Given the description of an element on the screen output the (x, y) to click on. 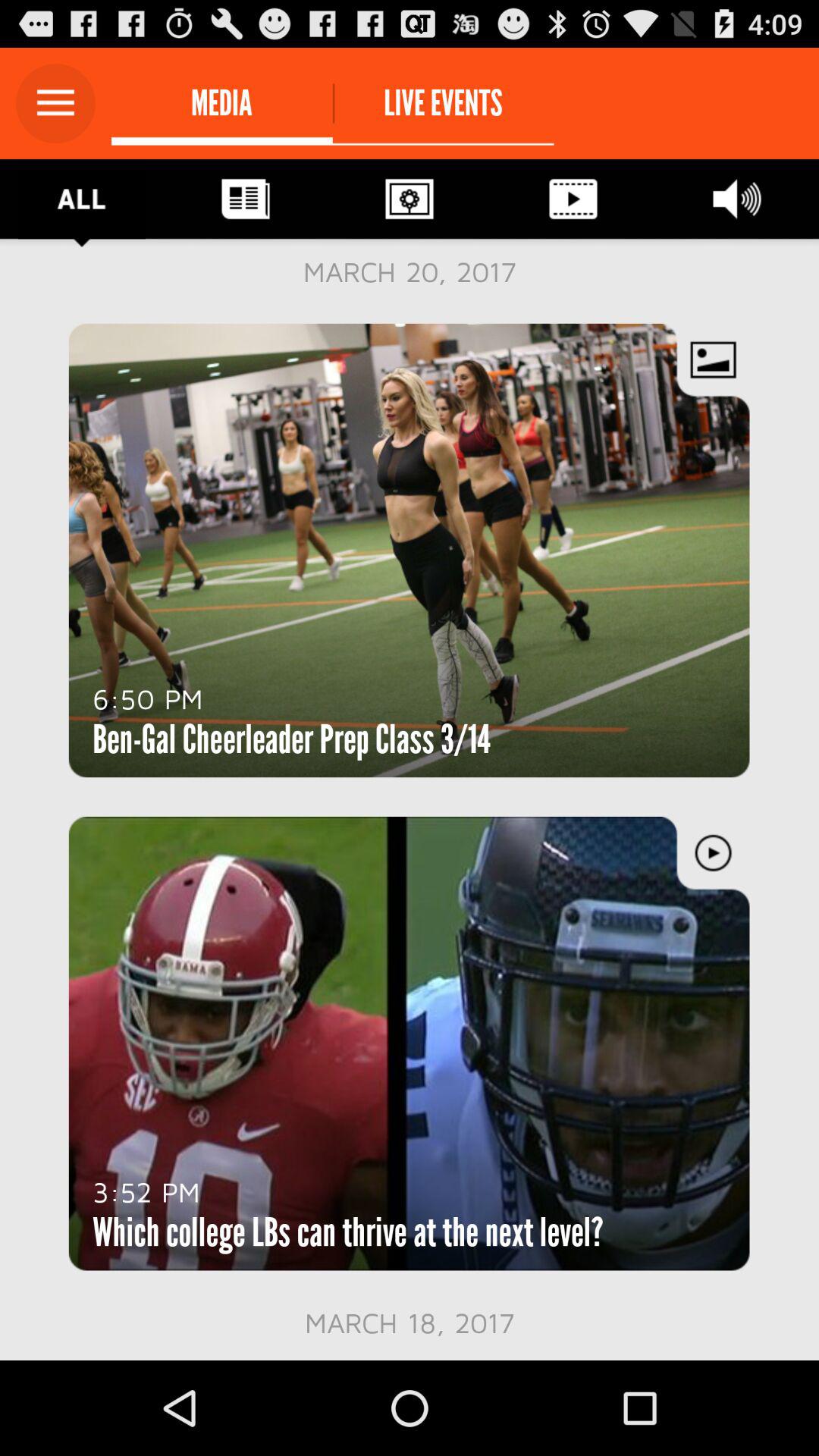
scroll to the live events (442, 103)
